Given the description of an element on the screen output the (x, y) to click on. 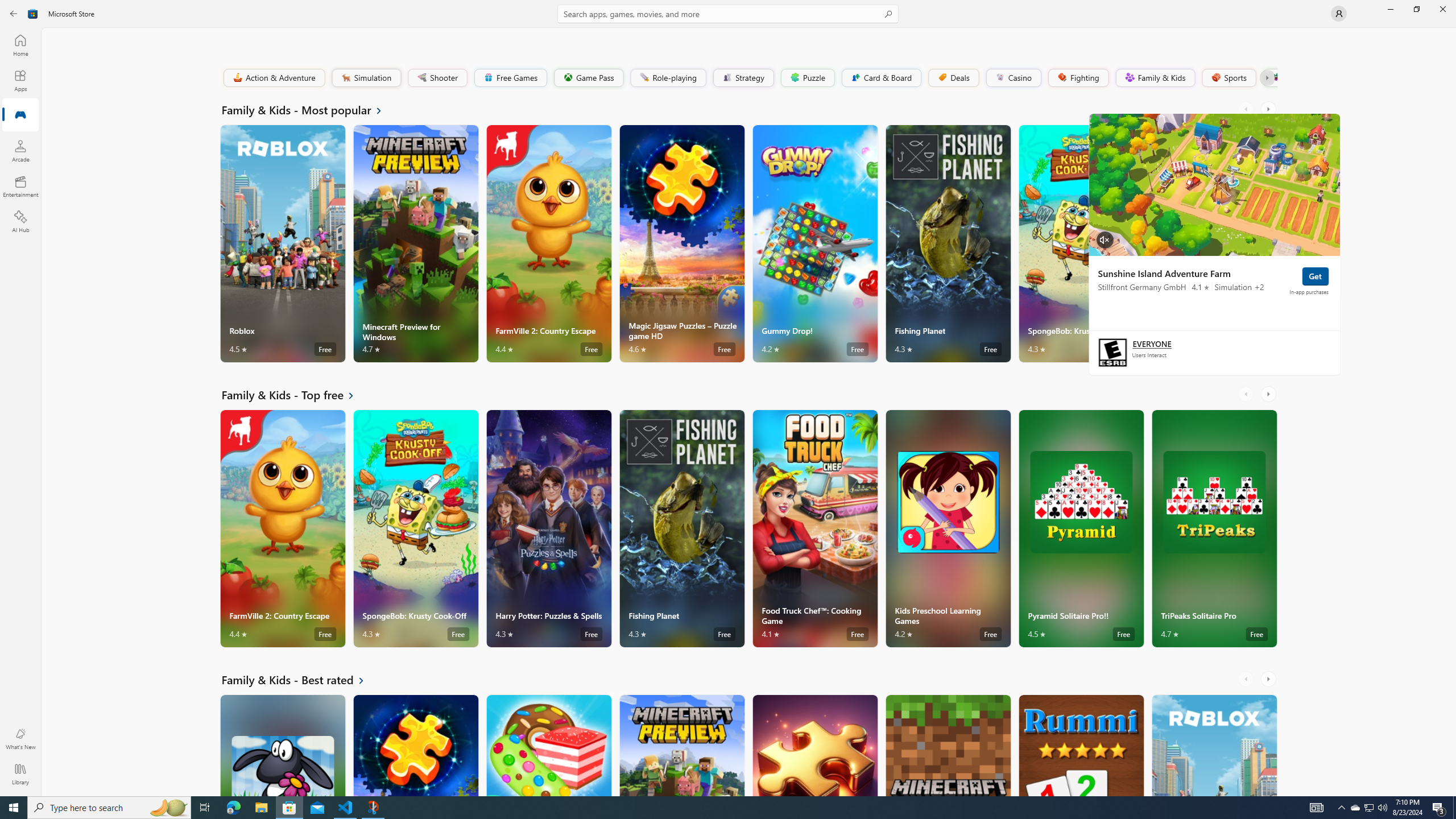
Home (20, 45)
Gaming (20, 115)
Age rating: EVERYONE. Click for more information. (1151, 342)
What's New (20, 738)
Gummy Drop!. Average rating of 4.2 out of five stars. Free   (814, 243)
See all  Family & Kids - Best rated (299, 679)
AutomationID: NavigationControl (728, 398)
Entertainment (20, 185)
Family & Kids (1154, 77)
AI Hub (20, 221)
Roblox. Average rating of 4.5 out of five stars. Free   (1213, 745)
